Given the description of an element on the screen output the (x, y) to click on. 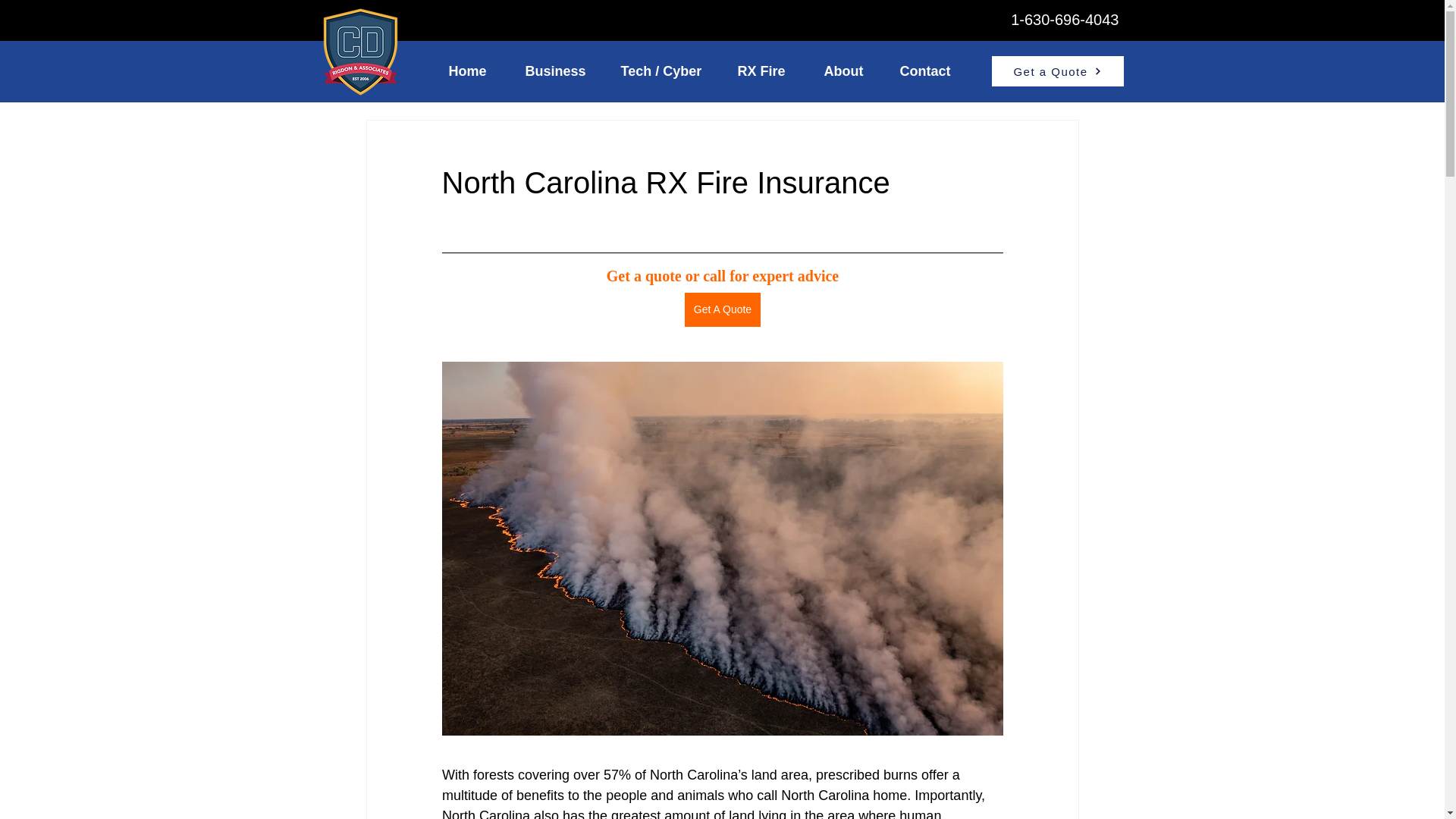
Get a Quote (1057, 71)
1-630-696-4043 (1064, 19)
Home (474, 70)
Get A Quote (722, 309)
